Given the description of an element on the screen output the (x, y) to click on. 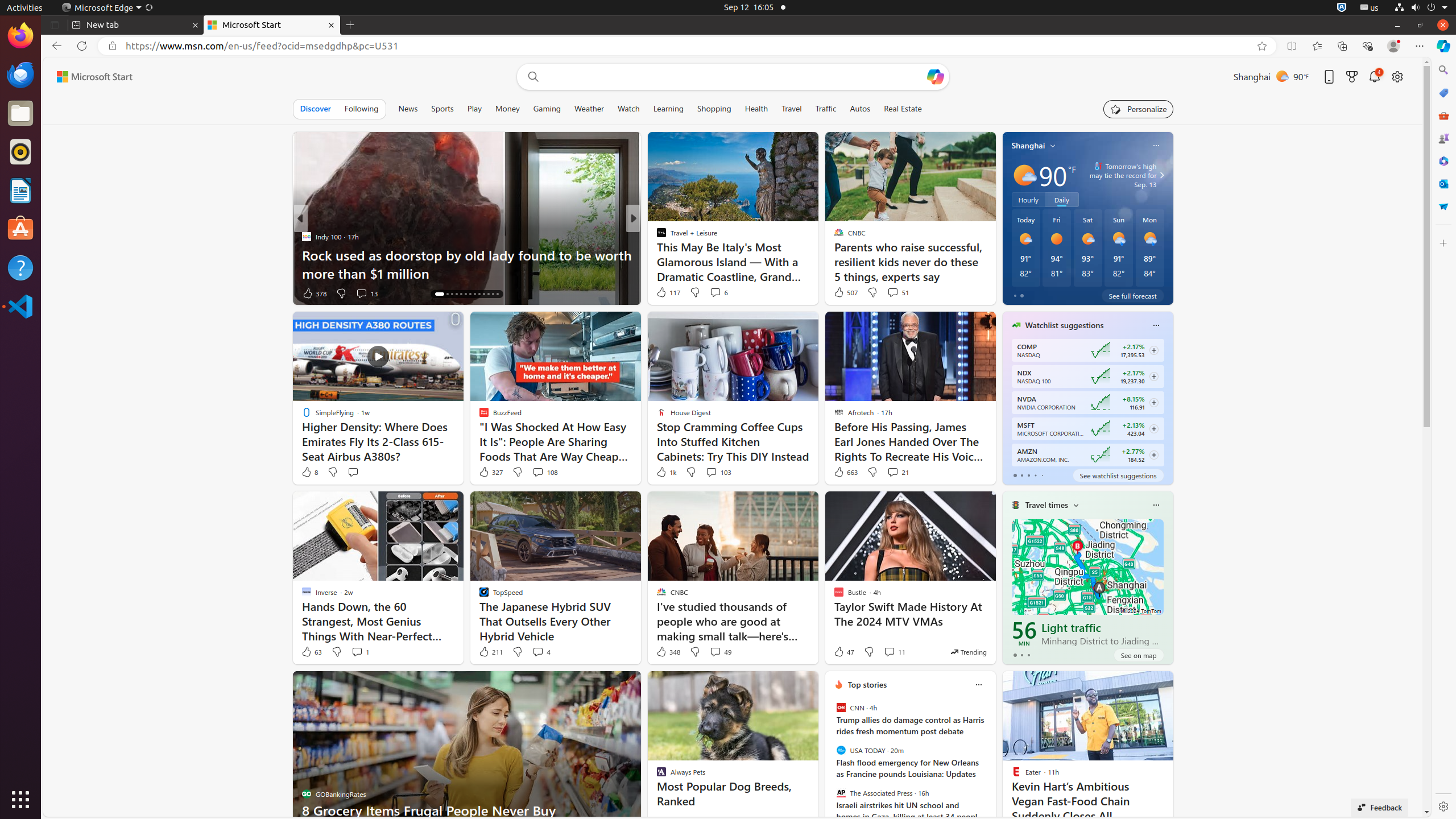
Microsoft Shopping Element type: push-button (1443, 92)
The #1 fast food chain in the US is not McDonald's, according to customers. See the top 23. Element type: link (816, 263)
2 Like Element type: toggle-button (660, 292)
Carnival's Holland America shares key cruise documents rule Element type: link (816, 263)
Files Element type: push-button (20, 113)
